Given the description of an element on the screen output the (x, y) to click on. 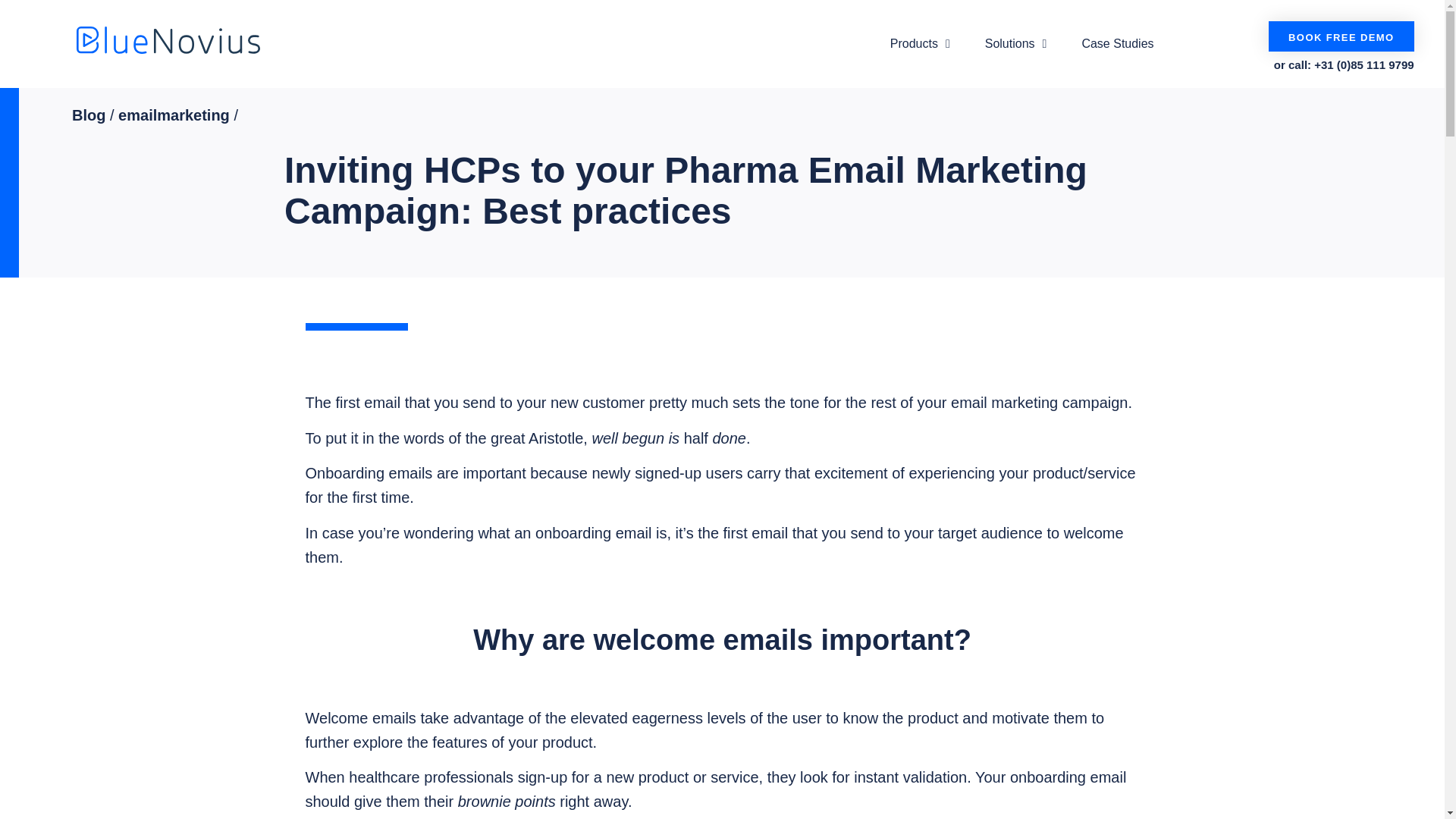
Case Studies (1117, 43)
BOOK FREE DEMO (1340, 36)
Blog (87, 115)
Products (920, 43)
Solutions (1015, 43)
emailmarketing (173, 115)
